Given the description of an element on the screen output the (x, y) to click on. 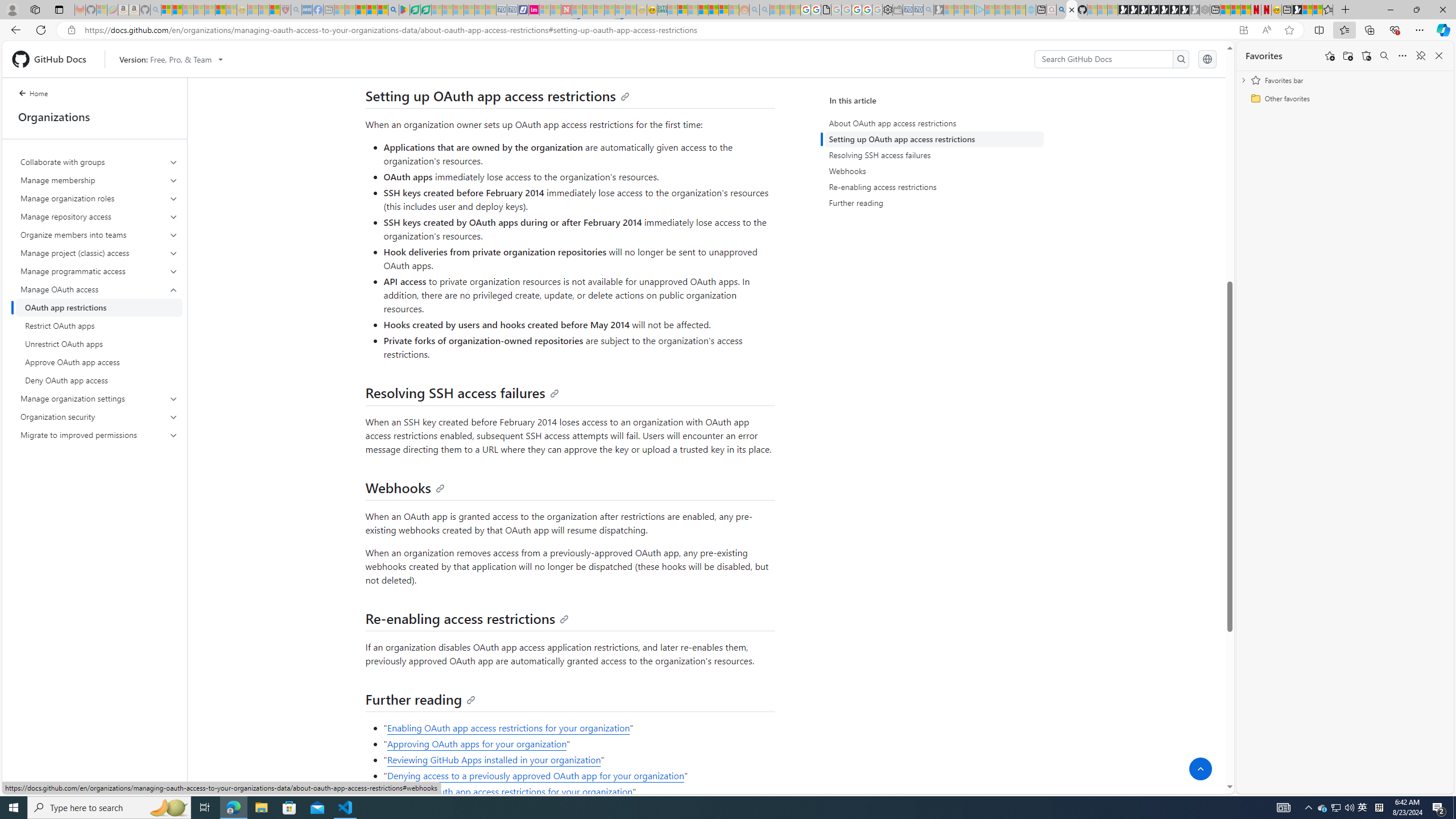
Further reading (420, 698)
Expert Portfolios (703, 9)
Migrate to improved permissions (99, 434)
Manage membership (99, 180)
